Given the description of an element on the screen output the (x, y) to click on. 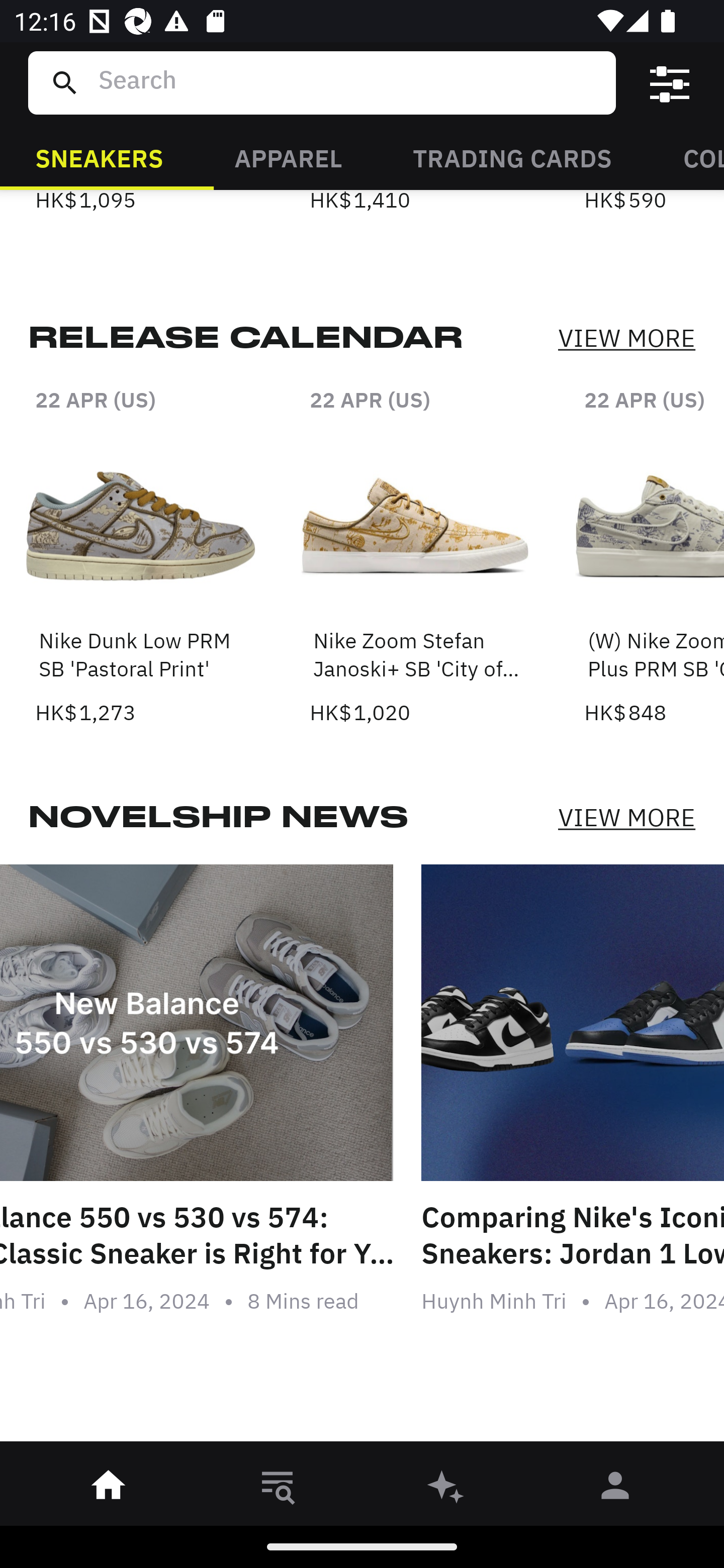
Search (349, 82)
 (669, 82)
SNEAKERS (99, 156)
APPAREL (287, 156)
TRADING CARDS (512, 156)
VIEW MORE (626, 338)
VIEW MORE (626, 816)
󰋜 (108, 1488)
󱎸 (277, 1488)
󰫢 (446, 1488)
󰀄 (615, 1488)
